Given the description of an element on the screen output the (x, y) to click on. 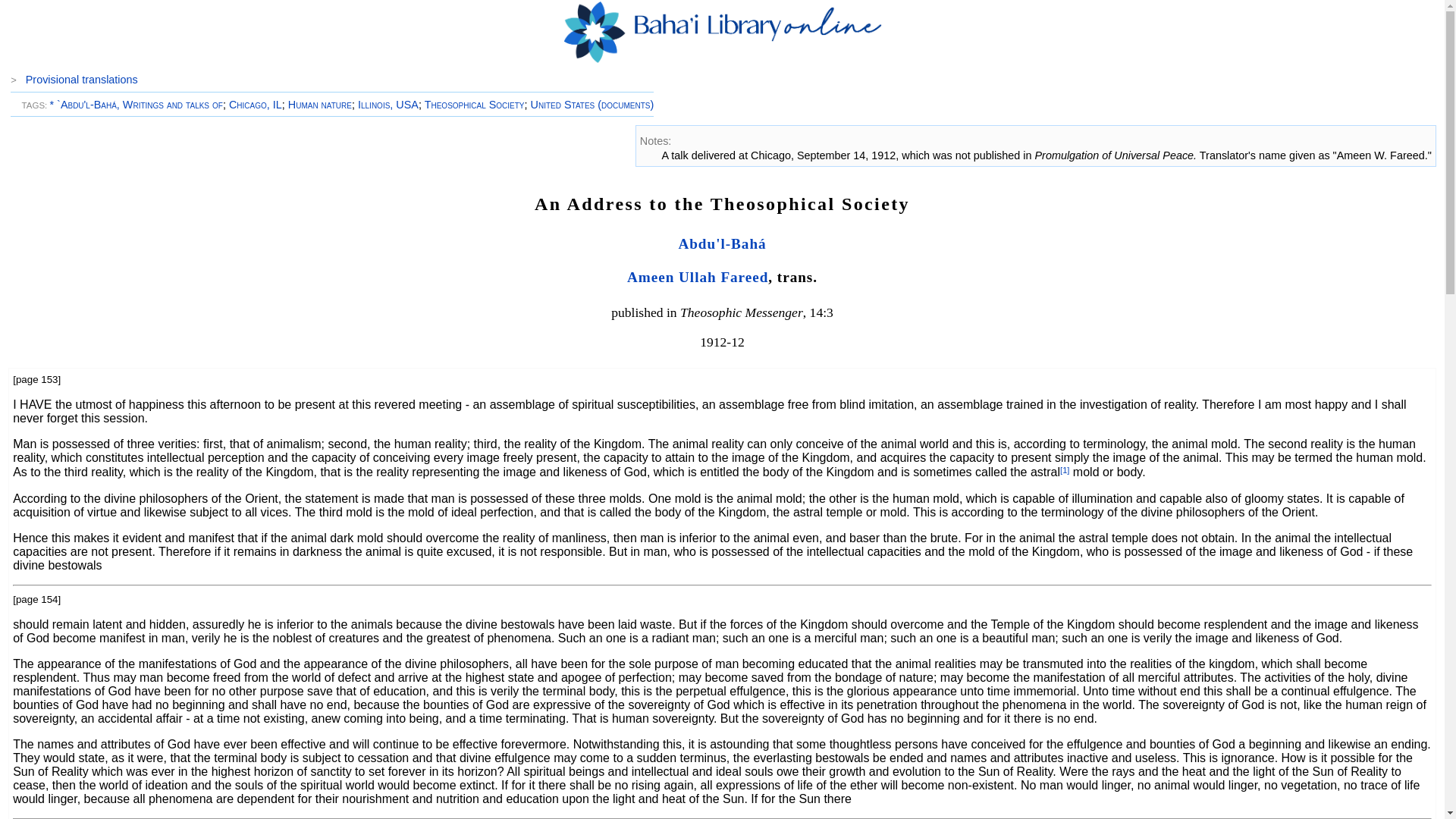
Illinois, USA (388, 104)
Provisional translations (82, 79)
Ameen Ullah Fareed (697, 277)
Theosophical Society (474, 104)
Human nature (320, 104)
Chicago, IL (255, 104)
